Given the description of an element on the screen output the (x, y) to click on. 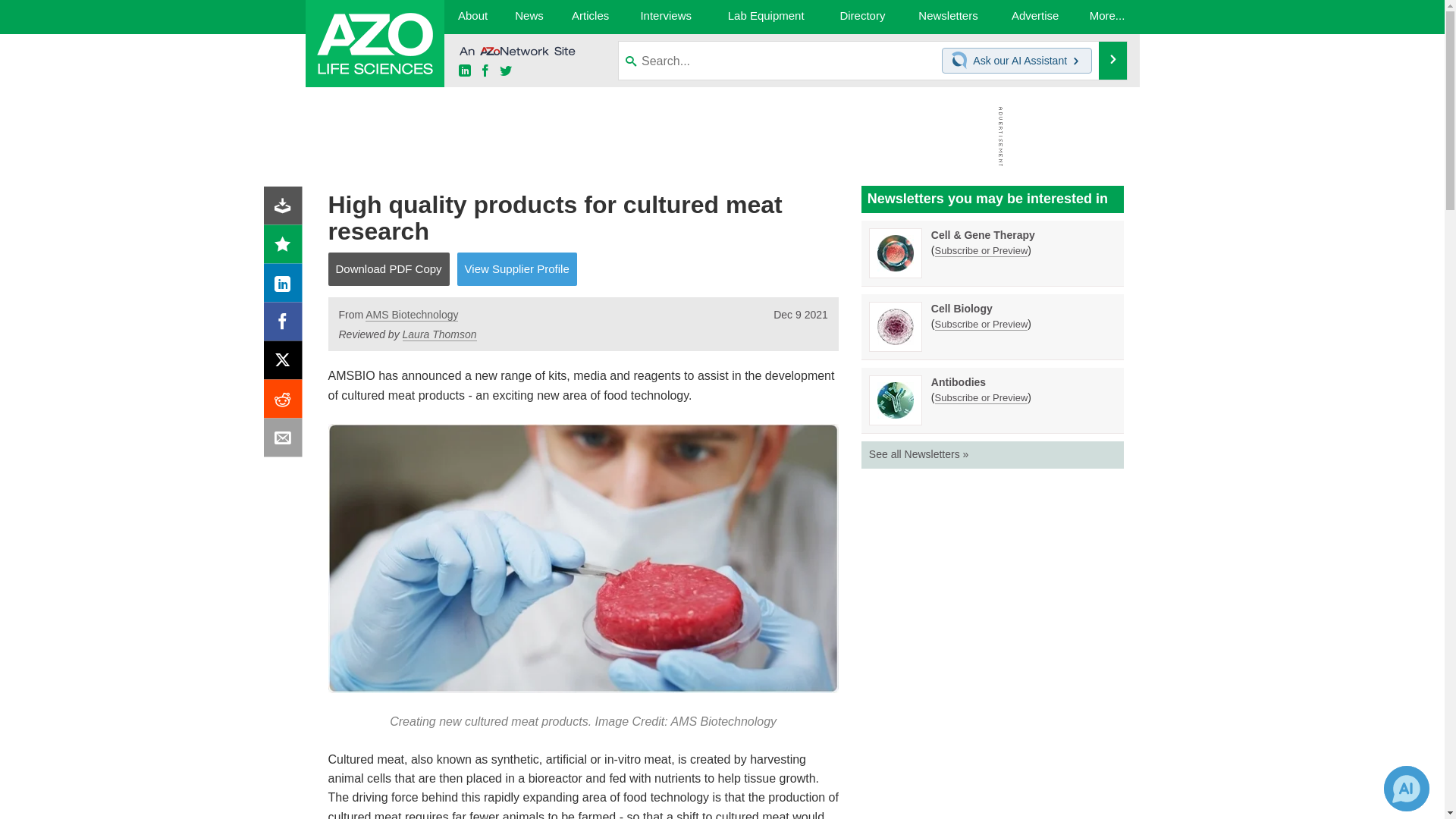
About (472, 17)
Newsletters (948, 17)
News (528, 17)
Download PDF copy (285, 208)
Reddit (285, 402)
Articles (590, 17)
Interviews (665, 17)
More... (1107, 17)
Email (285, 441)
Rating (285, 247)
LinkedIn (285, 286)
Facebook (285, 324)
X (285, 363)
